Given the description of an element on the screen output the (x, y) to click on. 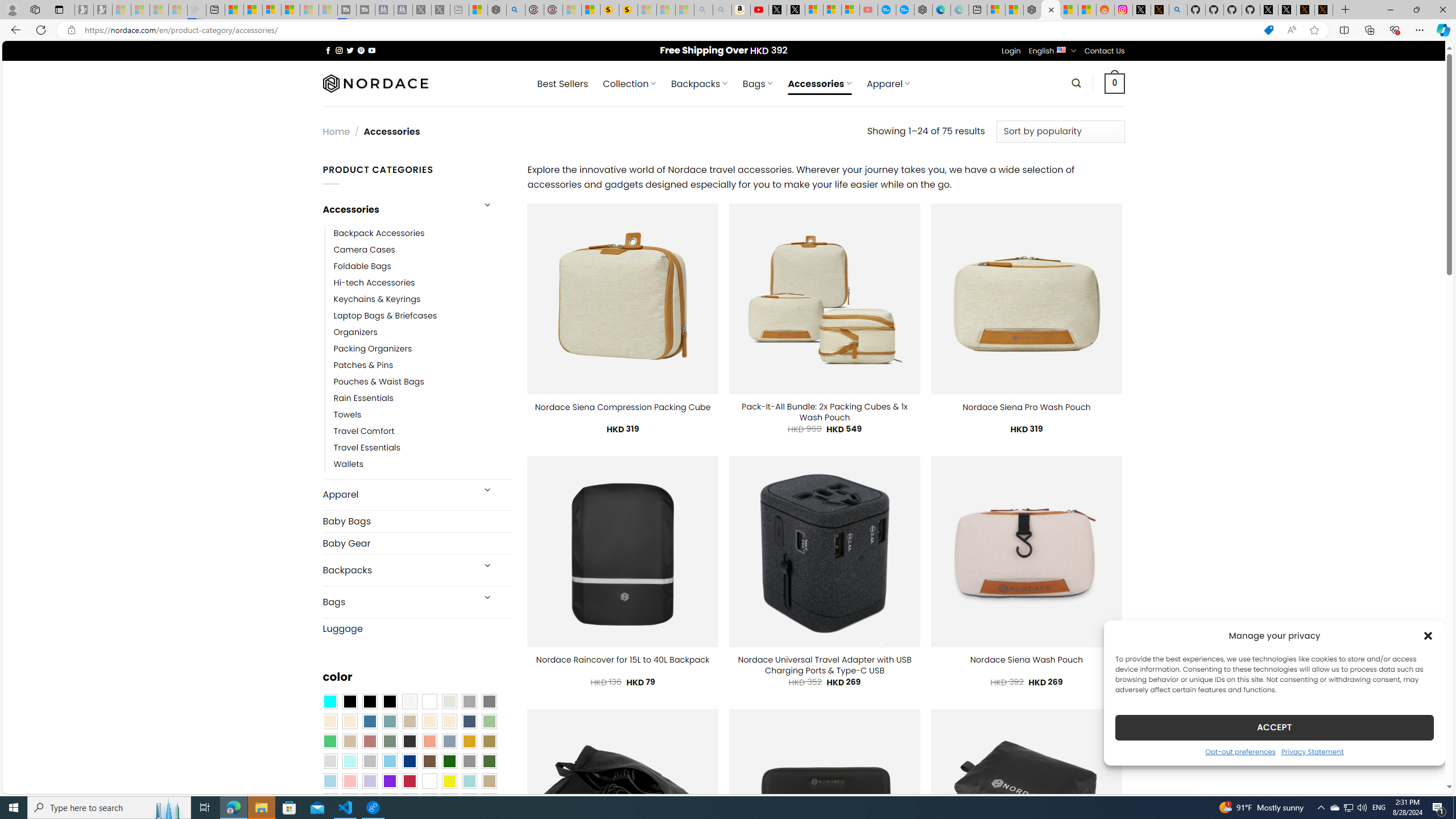
Ash Gray (449, 701)
Day 1: Arriving in Yemen (surreal to be here) - YouTube (759, 9)
Overview (271, 9)
  Best Sellers (562, 83)
Luggage (416, 628)
English (1061, 49)
